Given the description of an element on the screen output the (x, y) to click on. 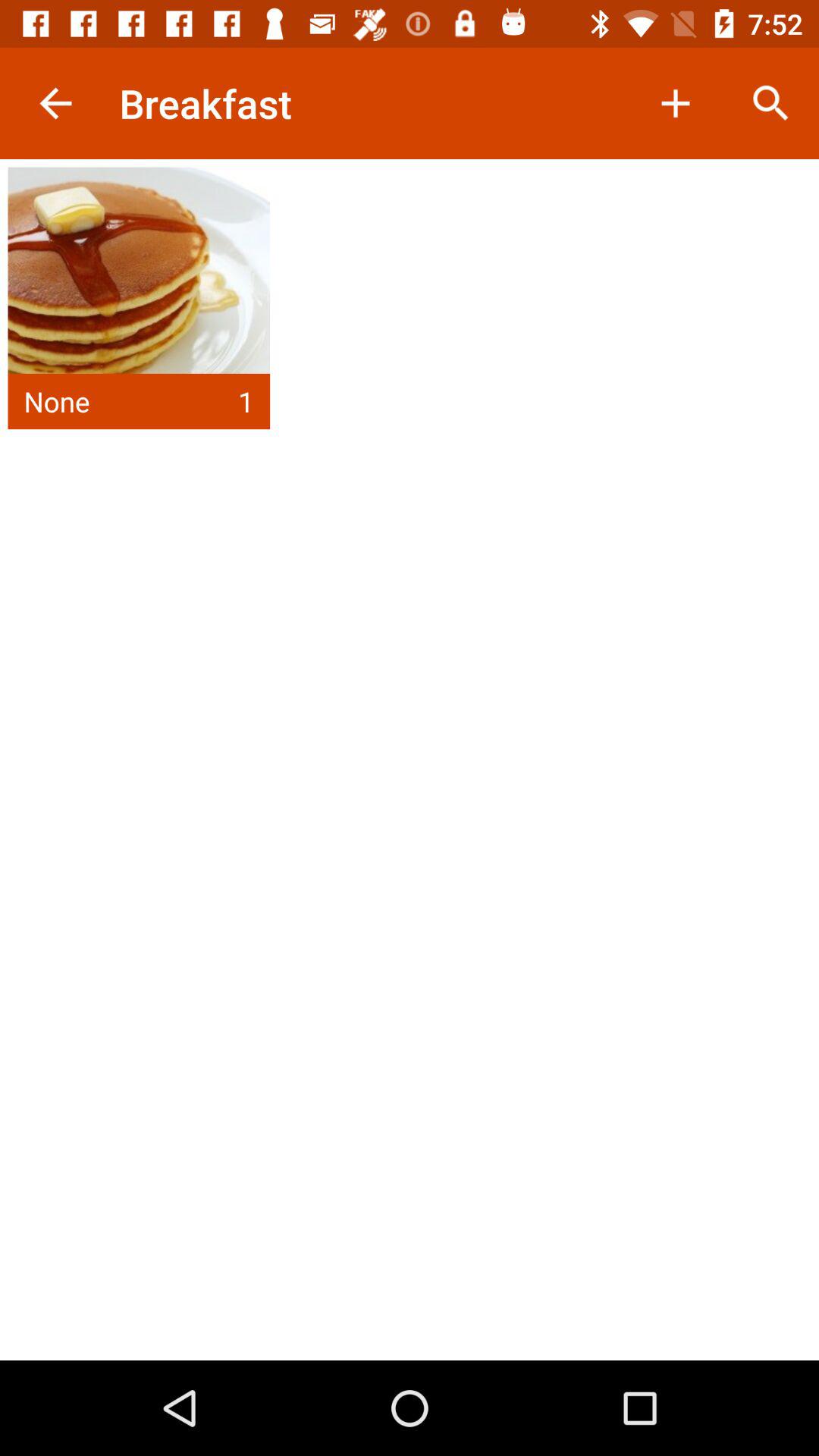
press item to the left of breakfast icon (55, 103)
